Given the description of an element on the screen output the (x, y) to click on. 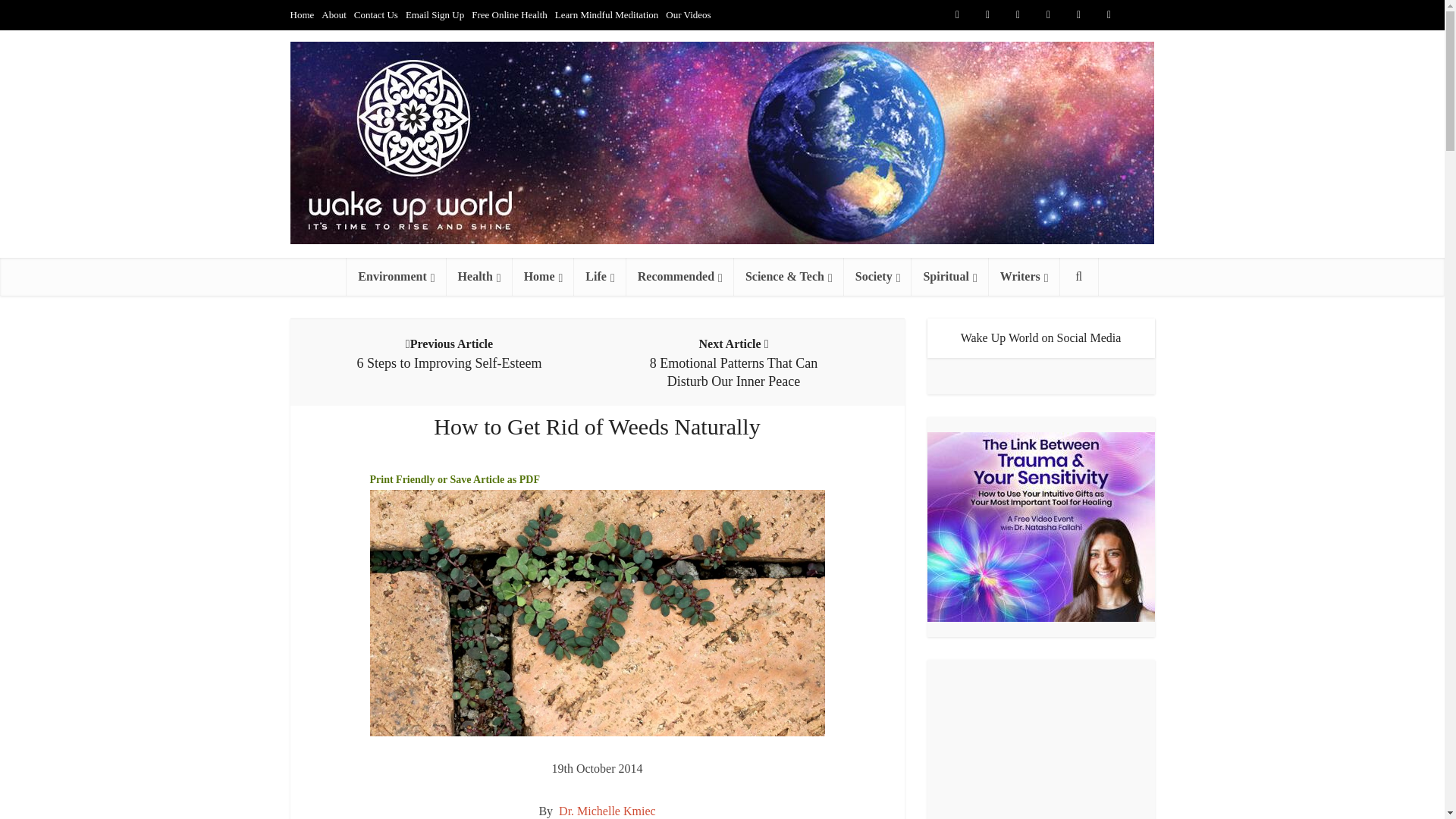
Telegram (1139, 15)
Home (301, 14)
Articles recommended by WuW (679, 276)
Free Online Health (509, 14)
More articles by Dr. Michelle Kmiec (607, 810)
Learn Mindful Meditation (606, 14)
Our Videos (687, 14)
Contact Us (375, 14)
About (333, 14)
